Given the description of an element on the screen output the (x, y) to click on. 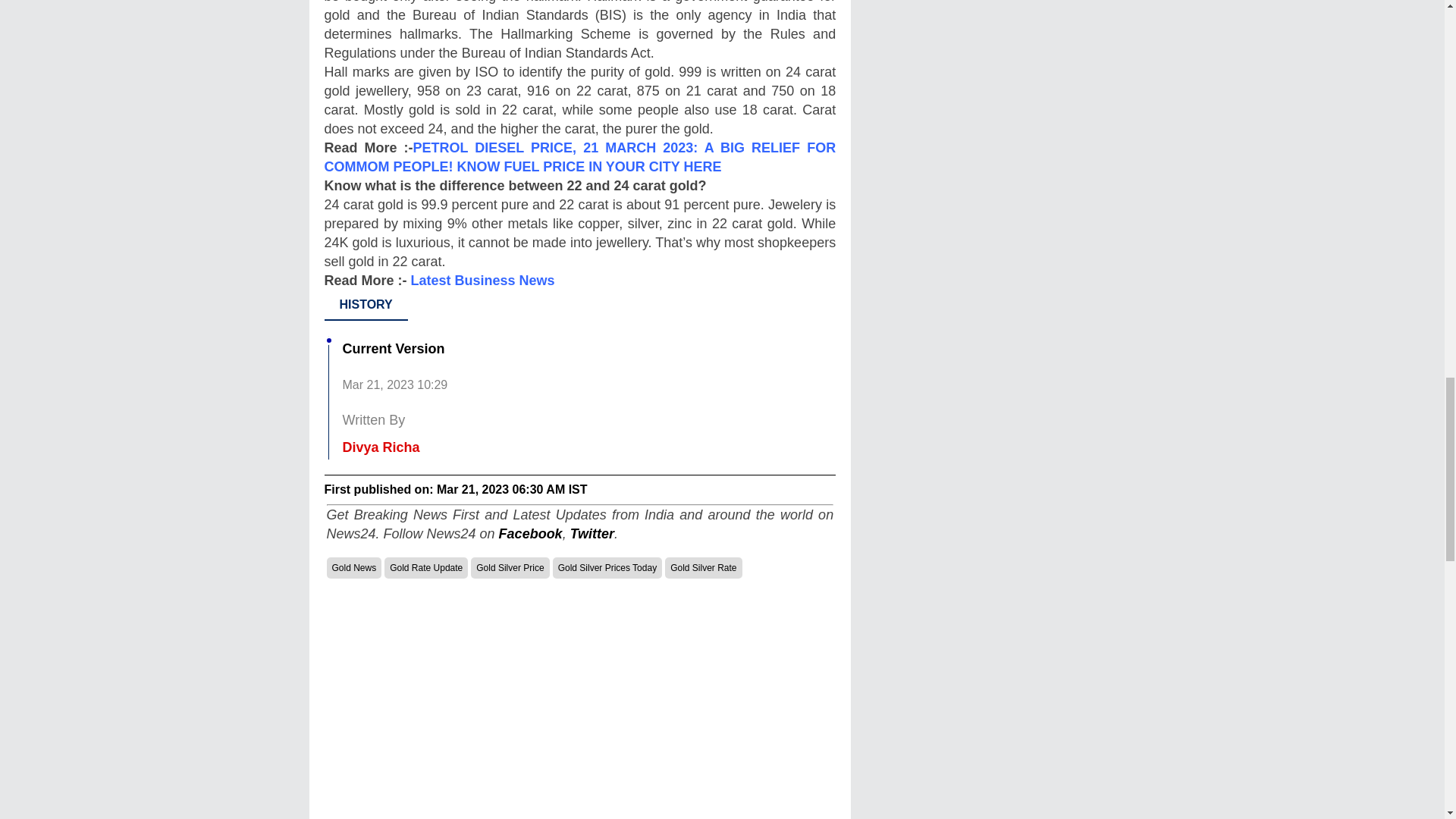
Facebook (530, 533)
Twitter (592, 533)
Divya Richa (381, 447)
Latest Business News (482, 280)
